Given the description of an element on the screen output the (x, y) to click on. 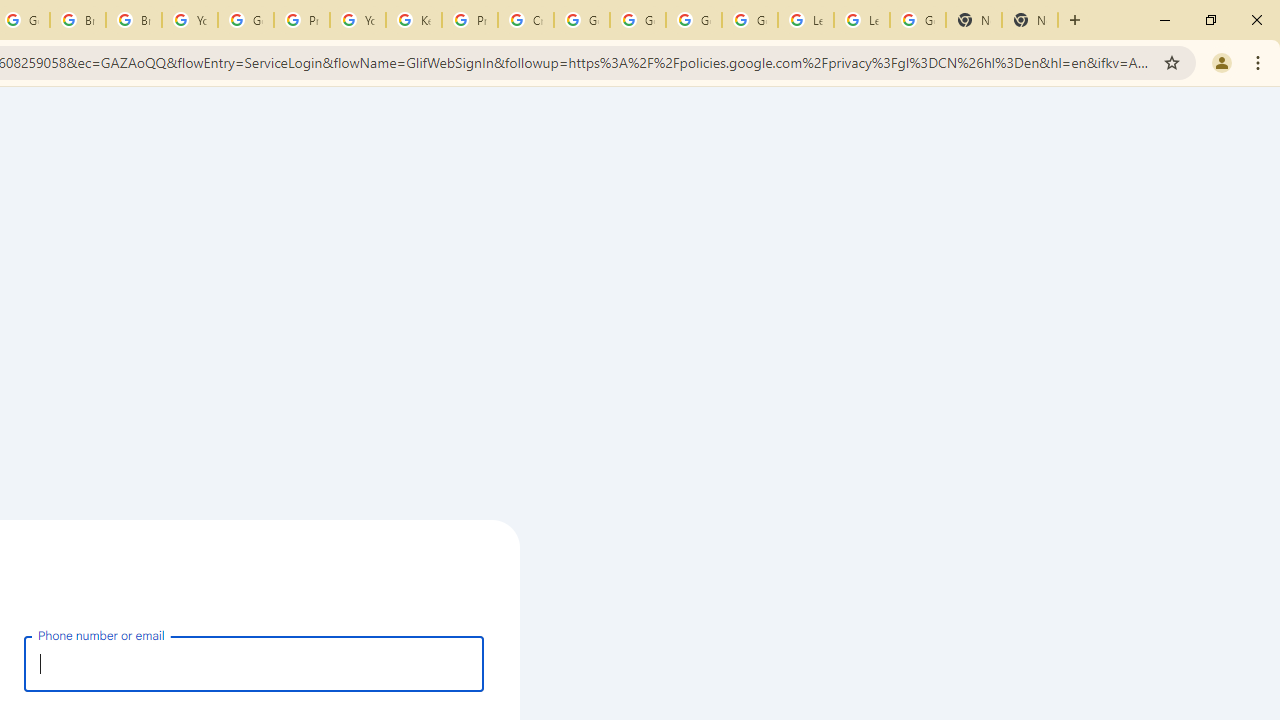
New Tab (1030, 20)
New Tab (973, 20)
Google Account Help (637, 20)
YouTube (189, 20)
